Given the description of an element on the screen output the (x, y) to click on. 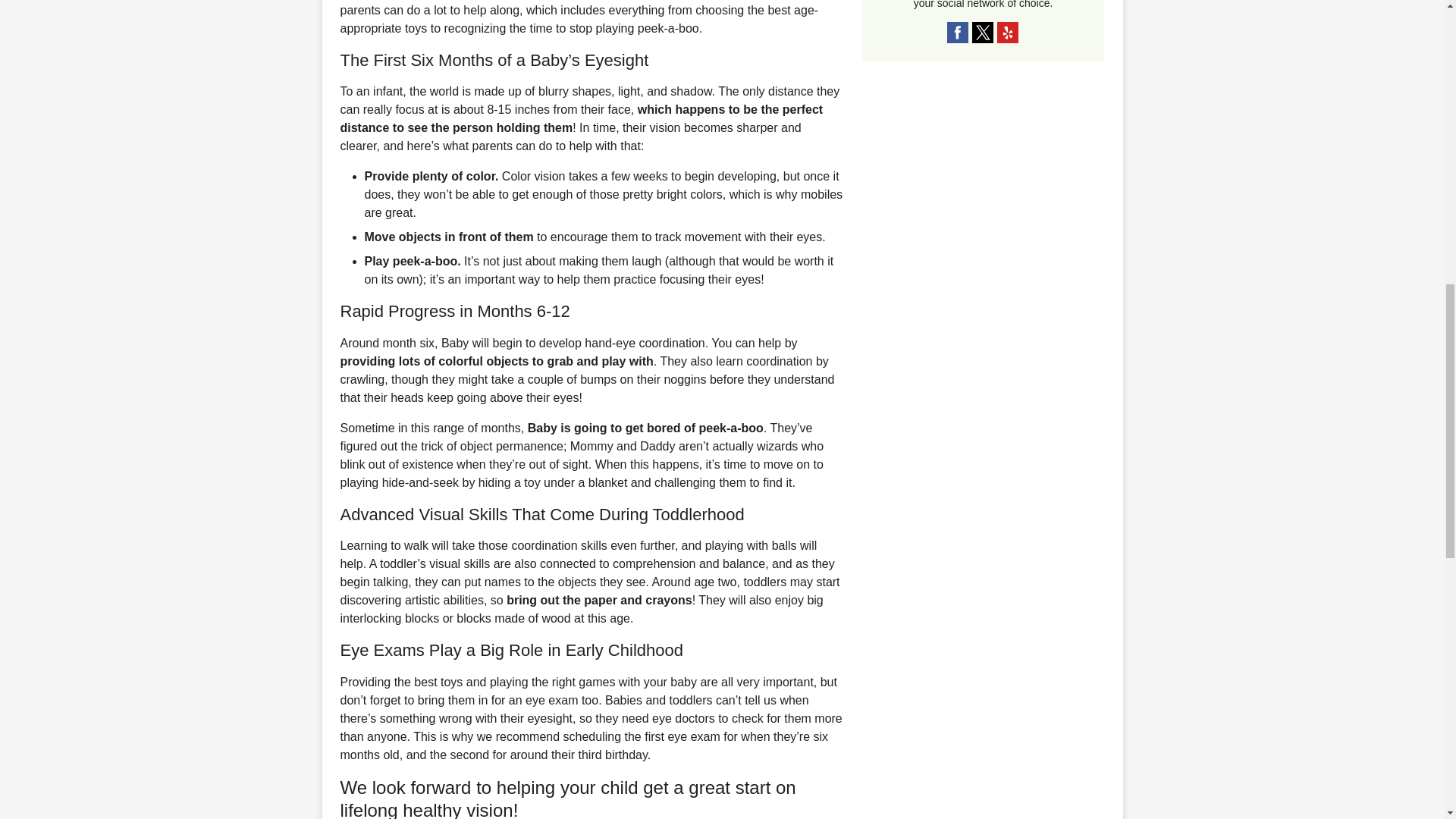
Go to our Facebook Page (957, 32)
Go to our Twitter Account (982, 32)
Go to our Yelp Page (1007, 32)
